Given the description of an element on the screen output the (x, y) to click on. 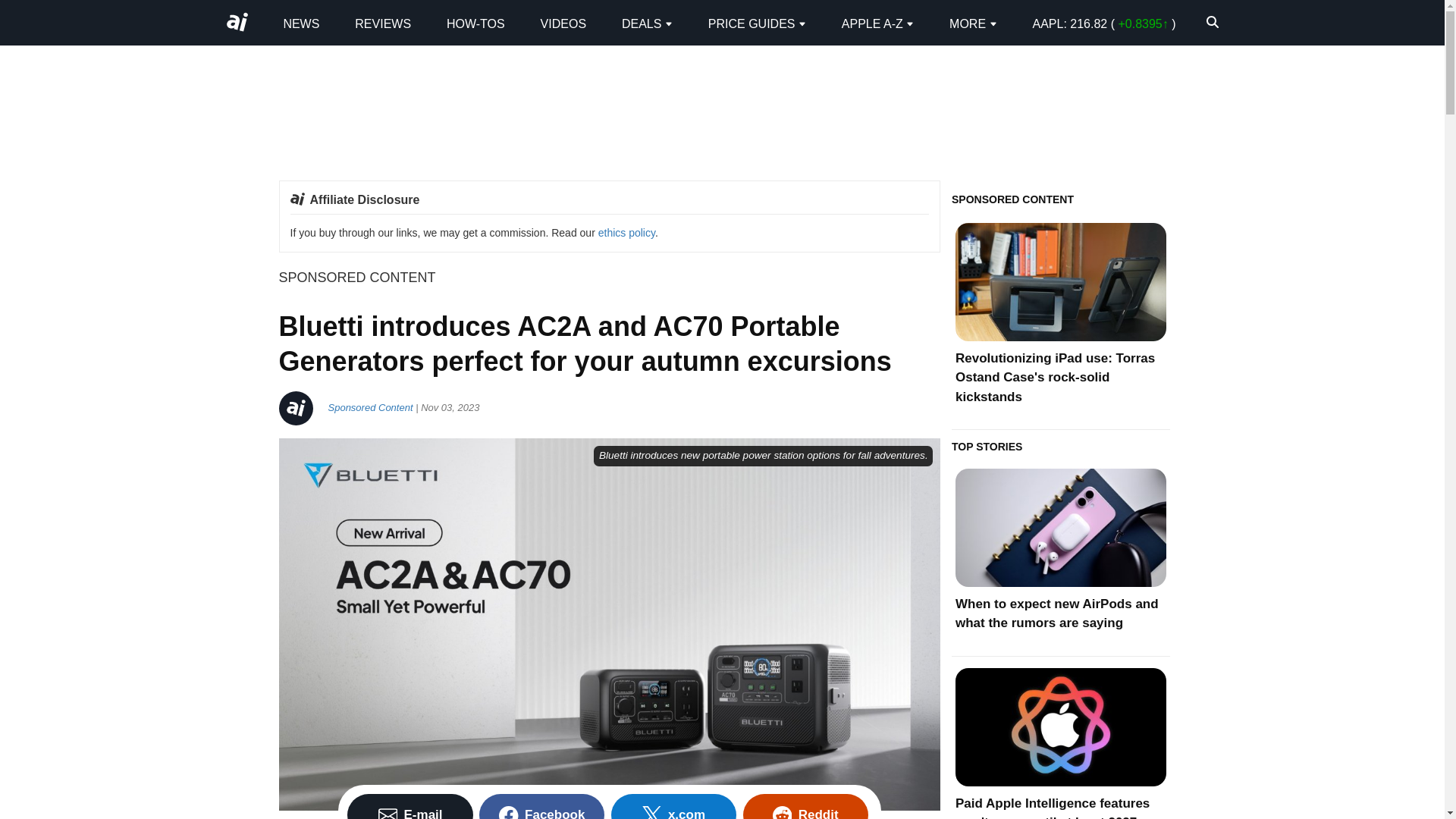
News (300, 23)
Reviews (382, 23)
HOW-TOS (475, 23)
NEWS (300, 23)
Videos (563, 23)
How-Tos (475, 23)
REVIEWS (382, 23)
VIDEOS (563, 23)
